Given the description of an element on the screen output the (x, y) to click on. 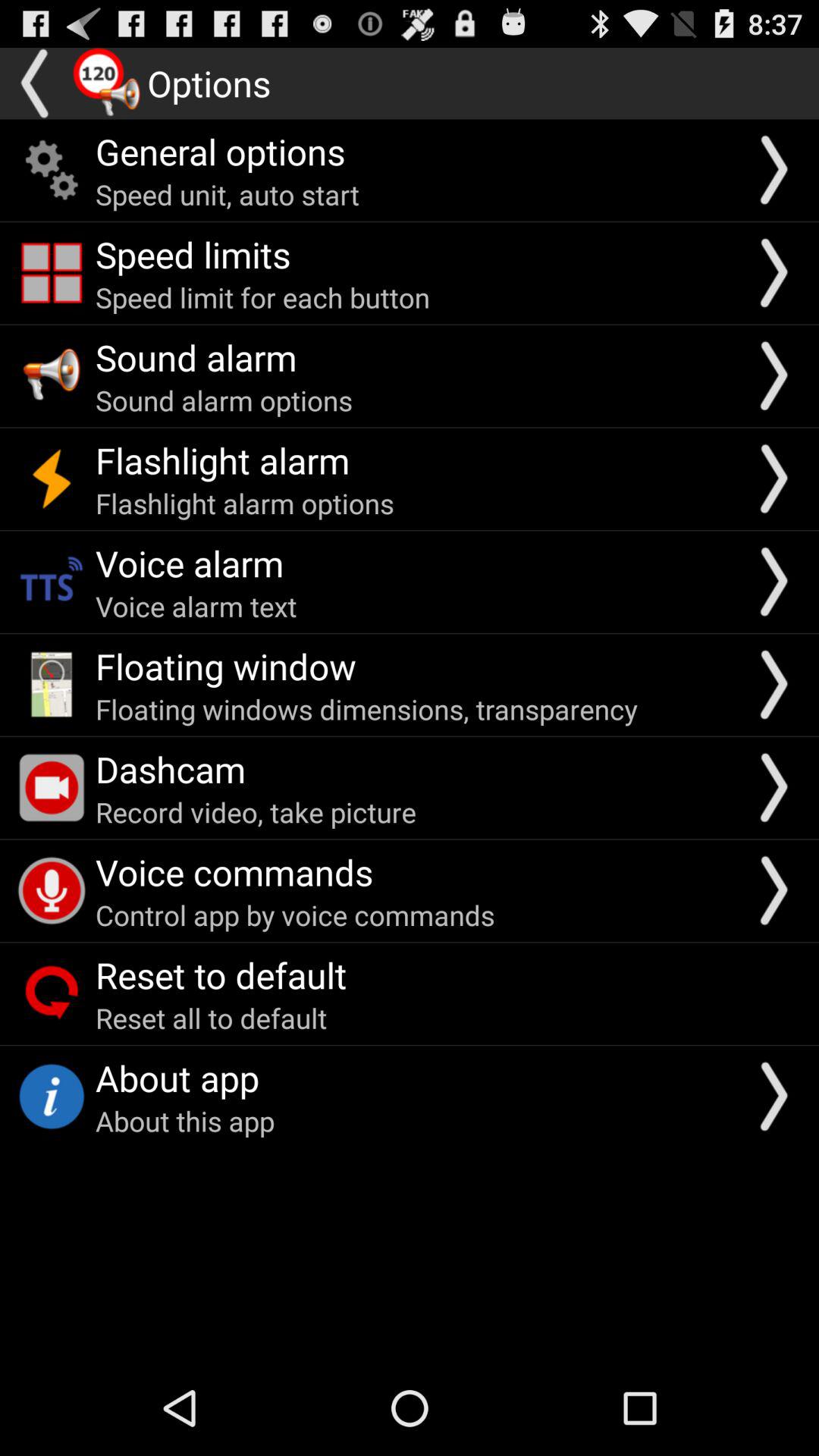
click the floating windows dimensions app (366, 709)
